Given the description of an element on the screen output the (x, y) to click on. 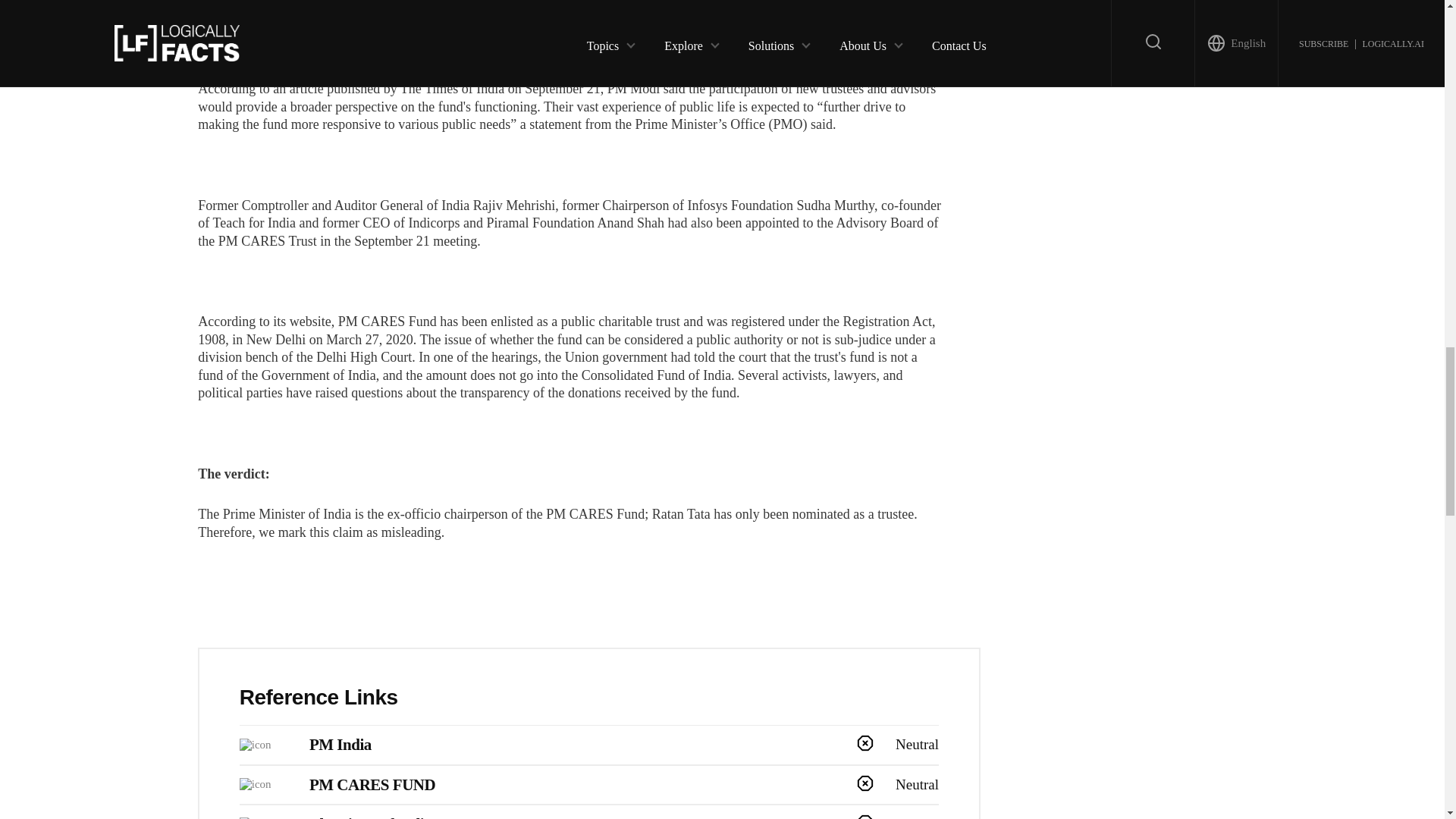
PM India (339, 744)
